Given the description of an element on the screen output the (x, y) to click on. 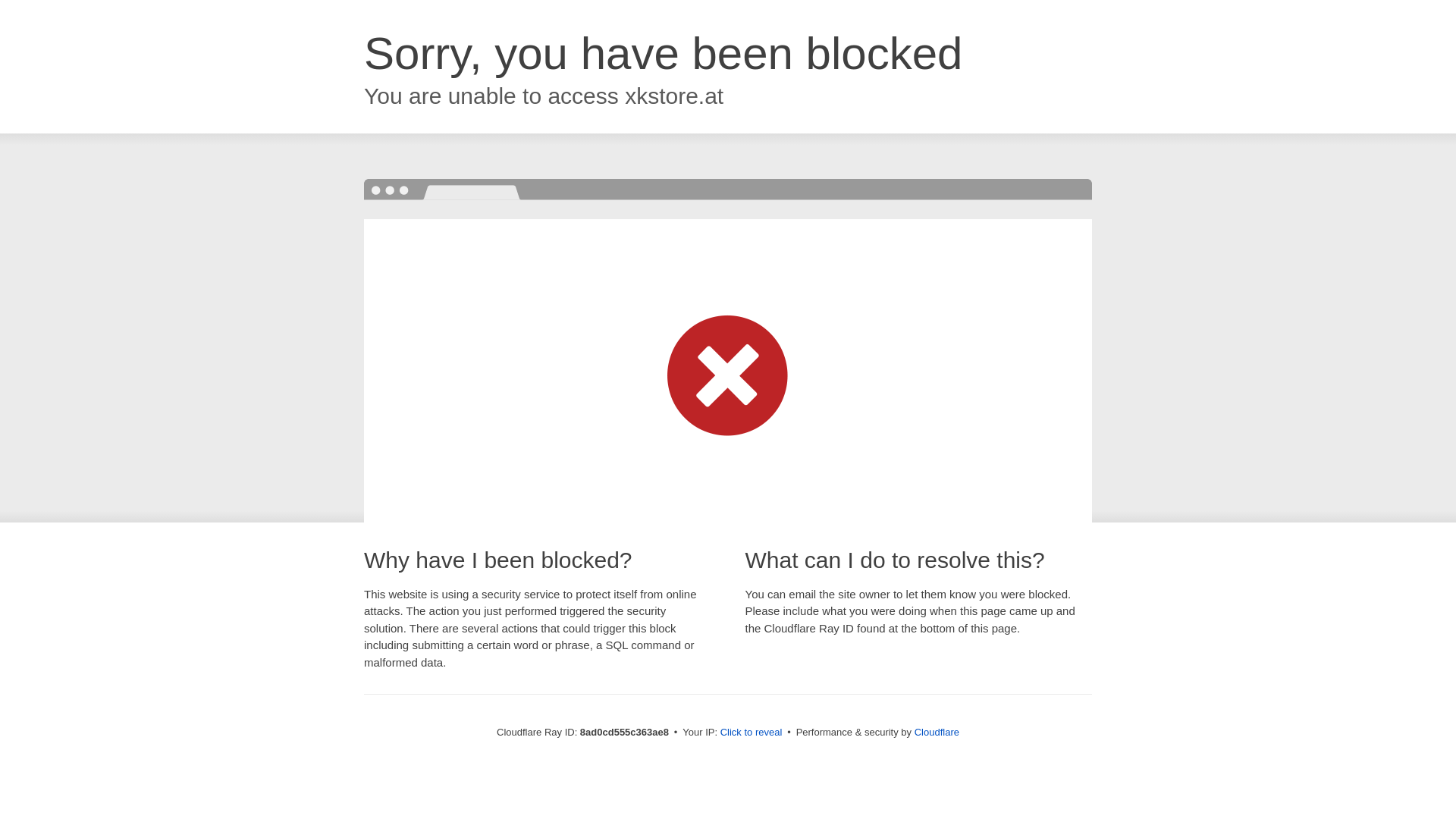
Click to reveal (751, 732)
Cloudflare (936, 731)
